Given the description of an element on the screen output the (x, y) to click on. 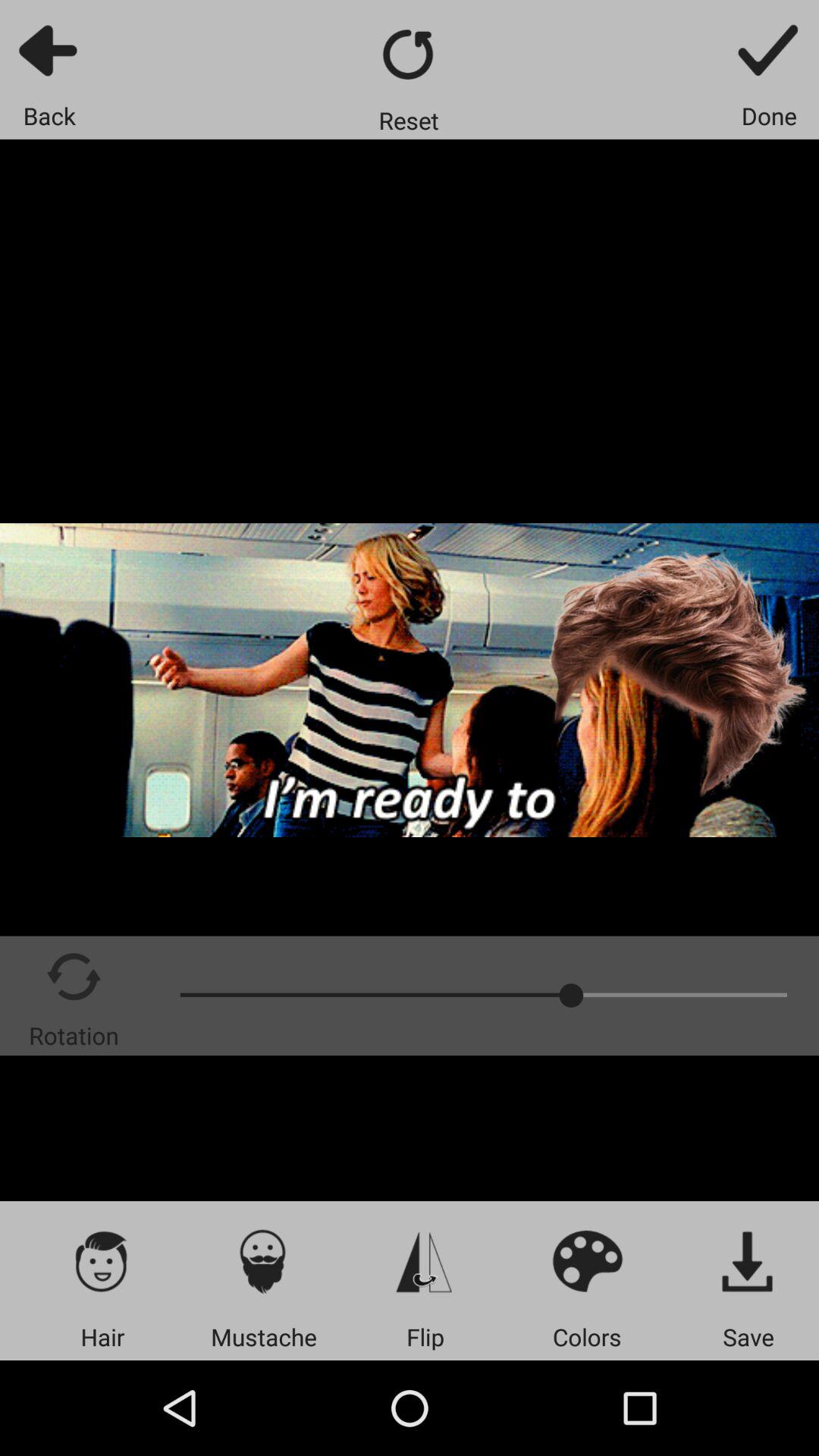
press app below rotation icon (102, 1260)
